Given the description of an element on the screen output the (x, y) to click on. 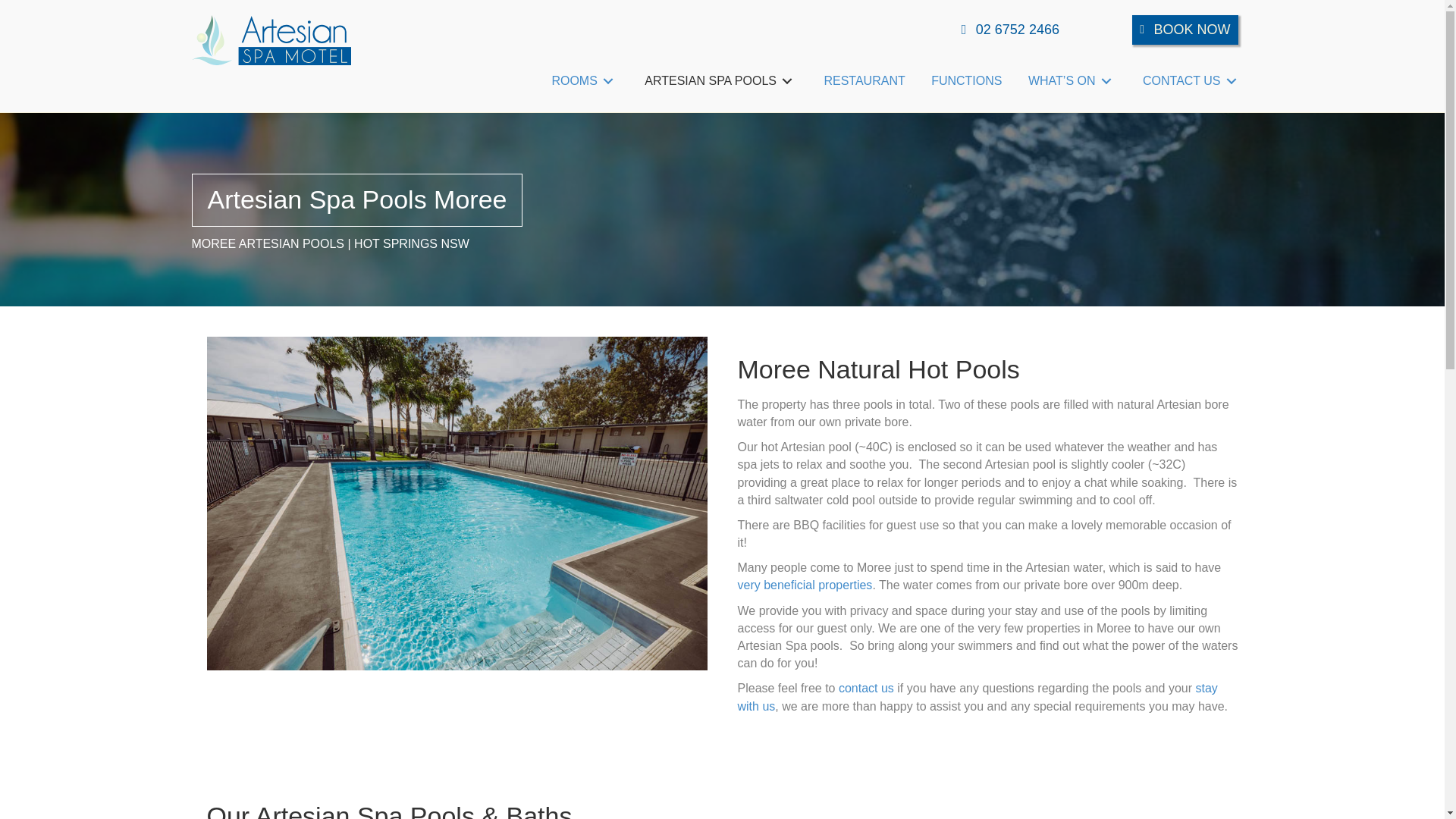
FUNCTIONS (966, 80)
very beneficial properties (804, 584)
contact us (865, 687)
logo-hor (270, 40)
BOOK NOW (1184, 30)
RESTAURANT (863, 80)
ROOMS (584, 80)
CONTACT US (1192, 80)
02 6752 2466 (1010, 30)
stay with us (976, 696)
ARTESIAN SPA POOLS (721, 80)
